Given the description of an element on the screen output the (x, y) to click on. 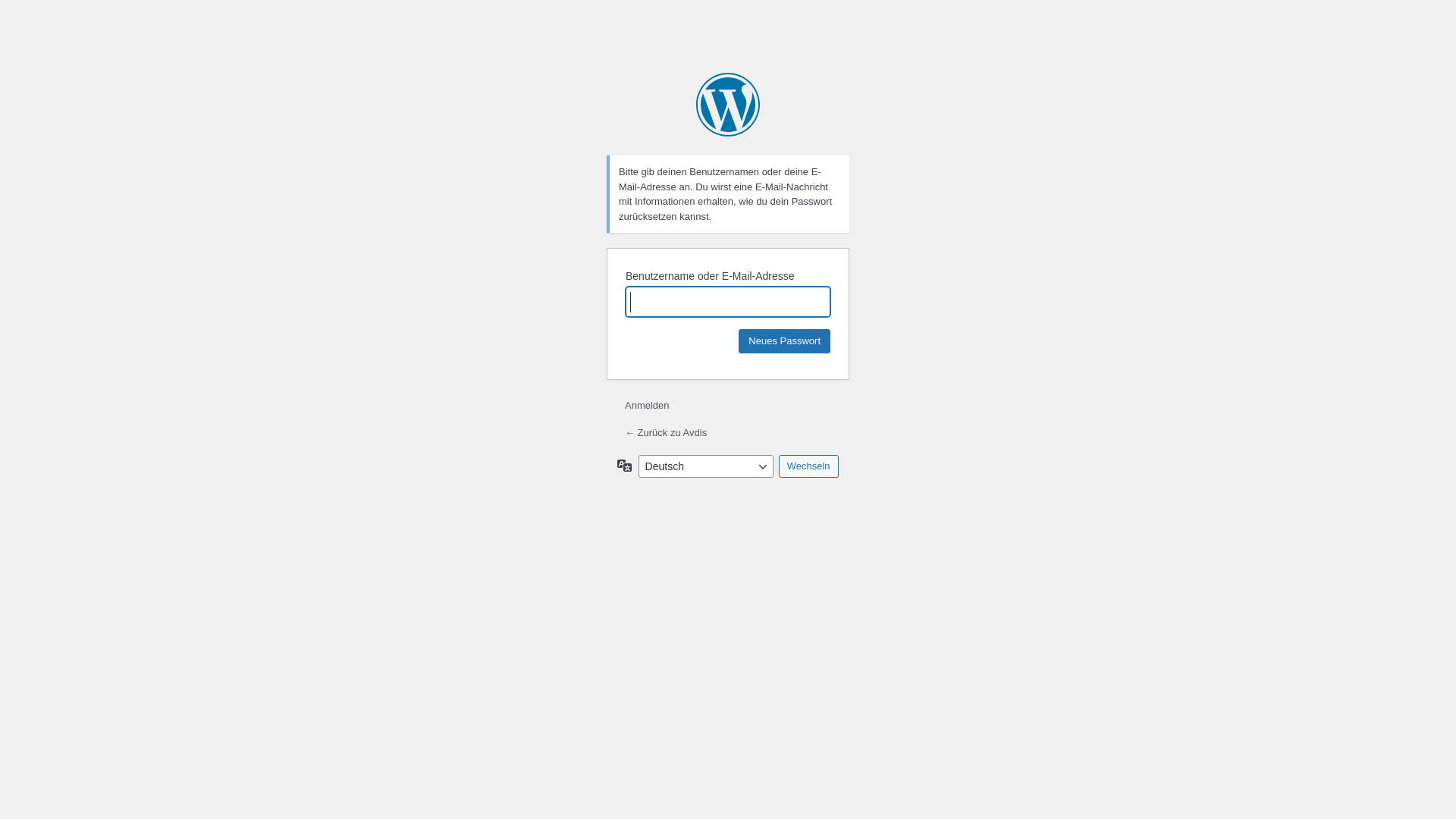
Neues Passwort Element type: text (784, 341)
Wechseln Element type: text (808, 466)
Powered by WordPress Element type: text (727, 104)
Anmelden Element type: text (646, 405)
